Given the description of an element on the screen output the (x, y) to click on. 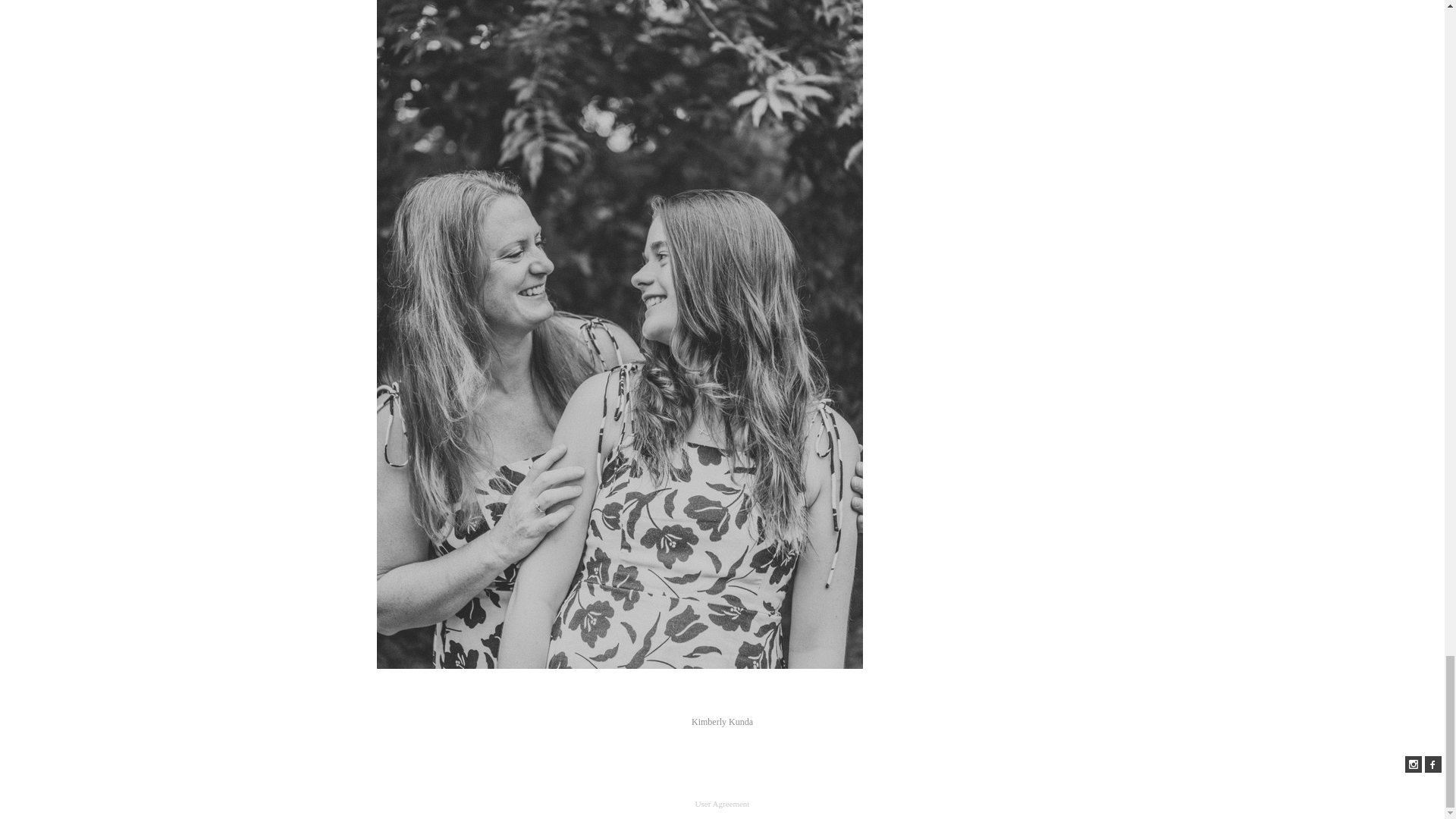
User Agreement (722, 803)
